Given the description of an element on the screen output the (x, y) to click on. 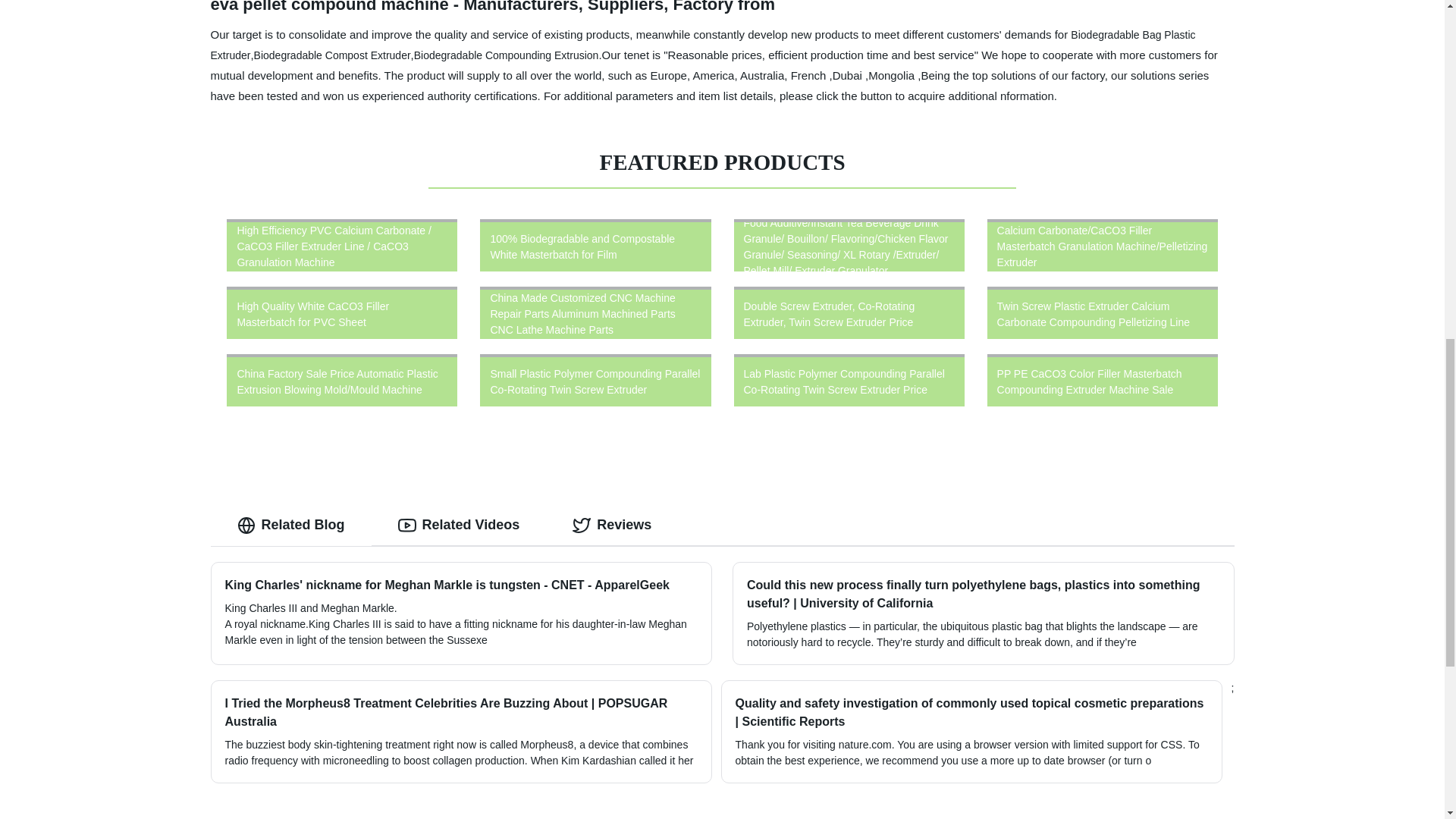
Biodegradable Compounding Extrusion (505, 54)
Biodegradable Compost Extruder (331, 54)
High Quality White CaCO3 Filler Masterbatch for PVC Sheet (341, 312)
Biodegradable Compounding Extrusion (505, 54)
Biodegradable Compost Extruder (331, 54)
Biodegradable Bag Plastic Extruder (703, 44)
Biodegradable Bag Plastic Extruder (703, 44)
